Given the description of an element on the screen output the (x, y) to click on. 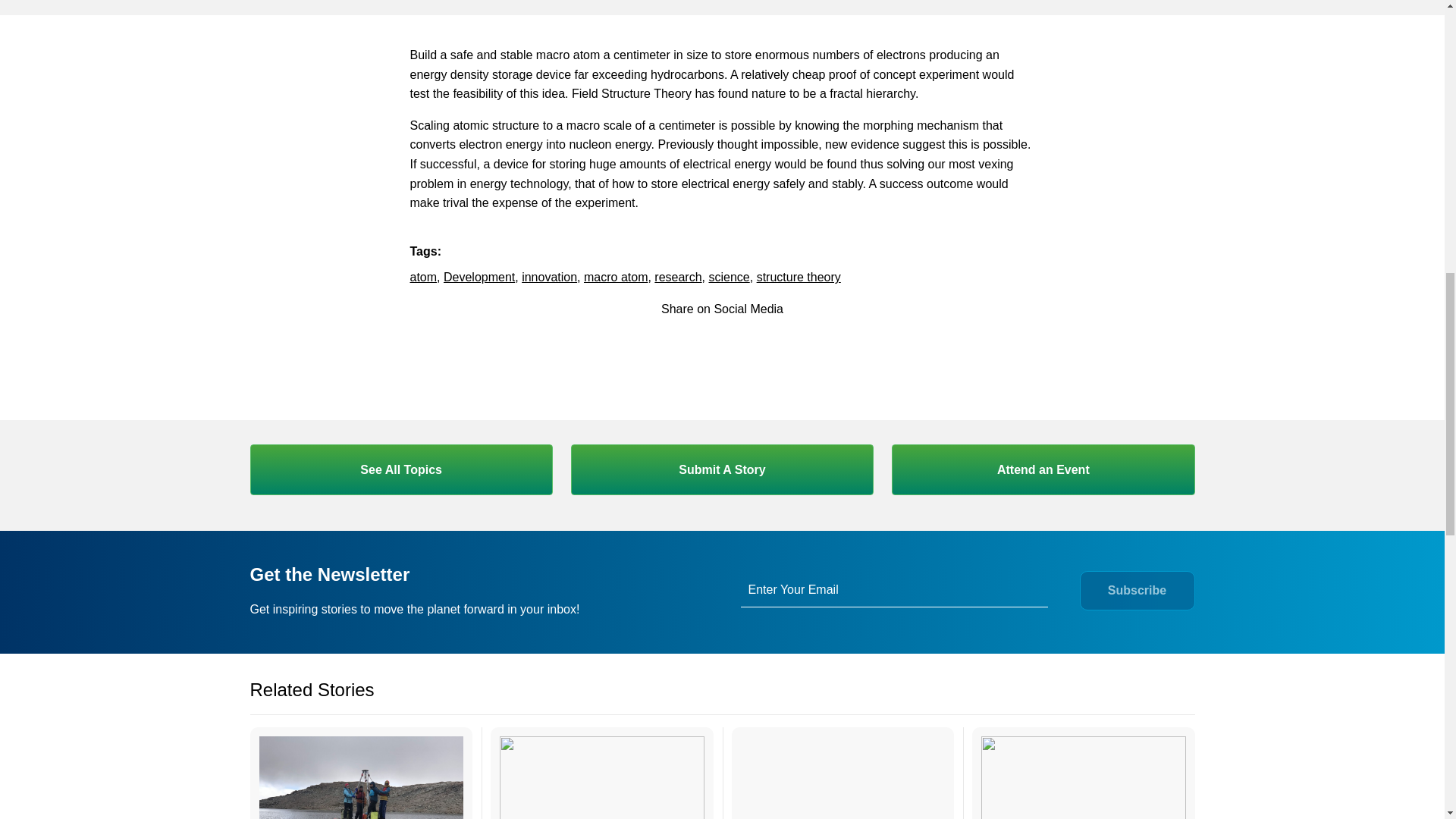
Subscribe (1136, 590)
